Given the description of an element on the screen output the (x, y) to click on. 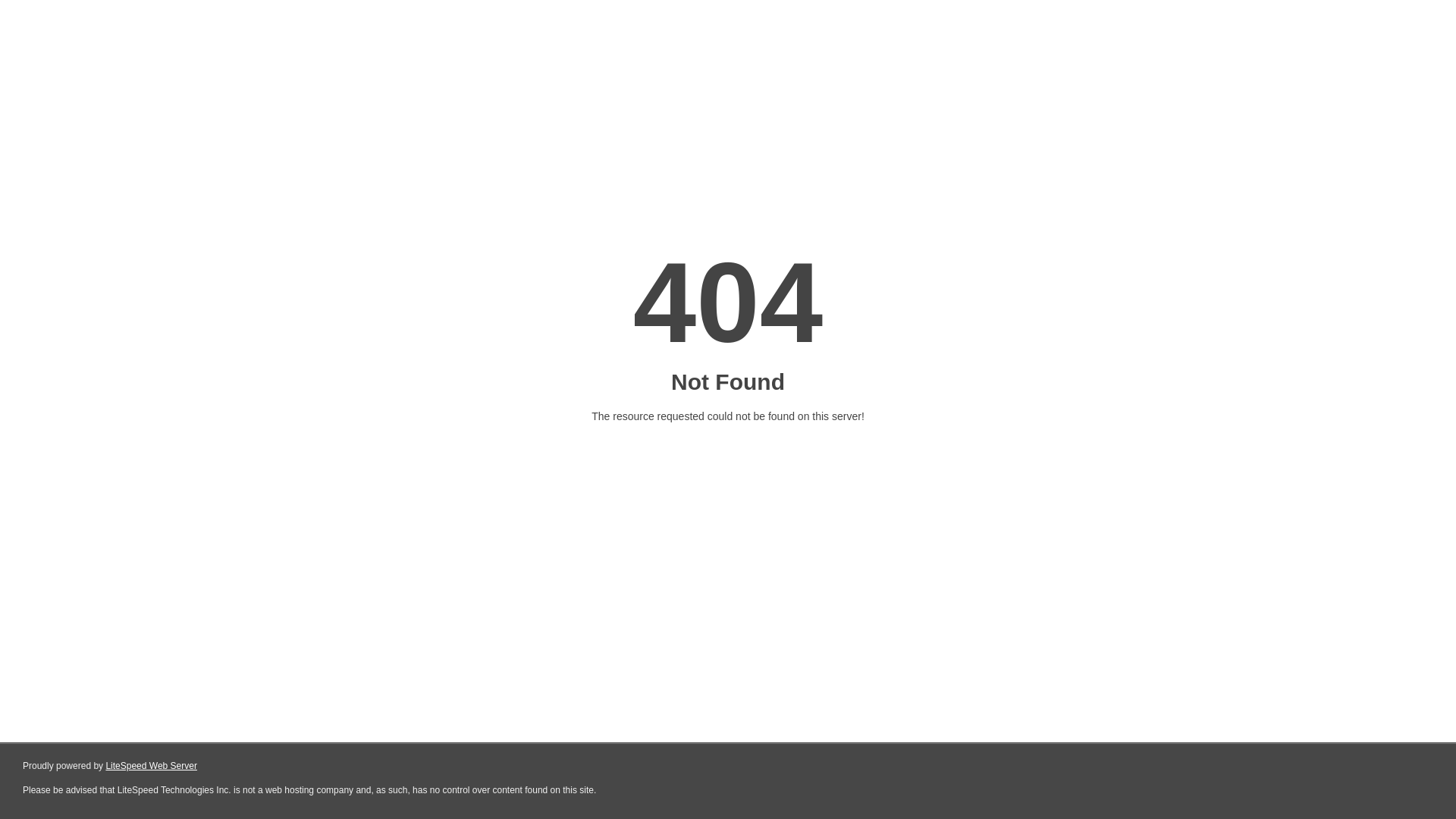
LiteSpeed Web Server Element type: text (151, 765)
